Given the description of an element on the screen output the (x, y) to click on. 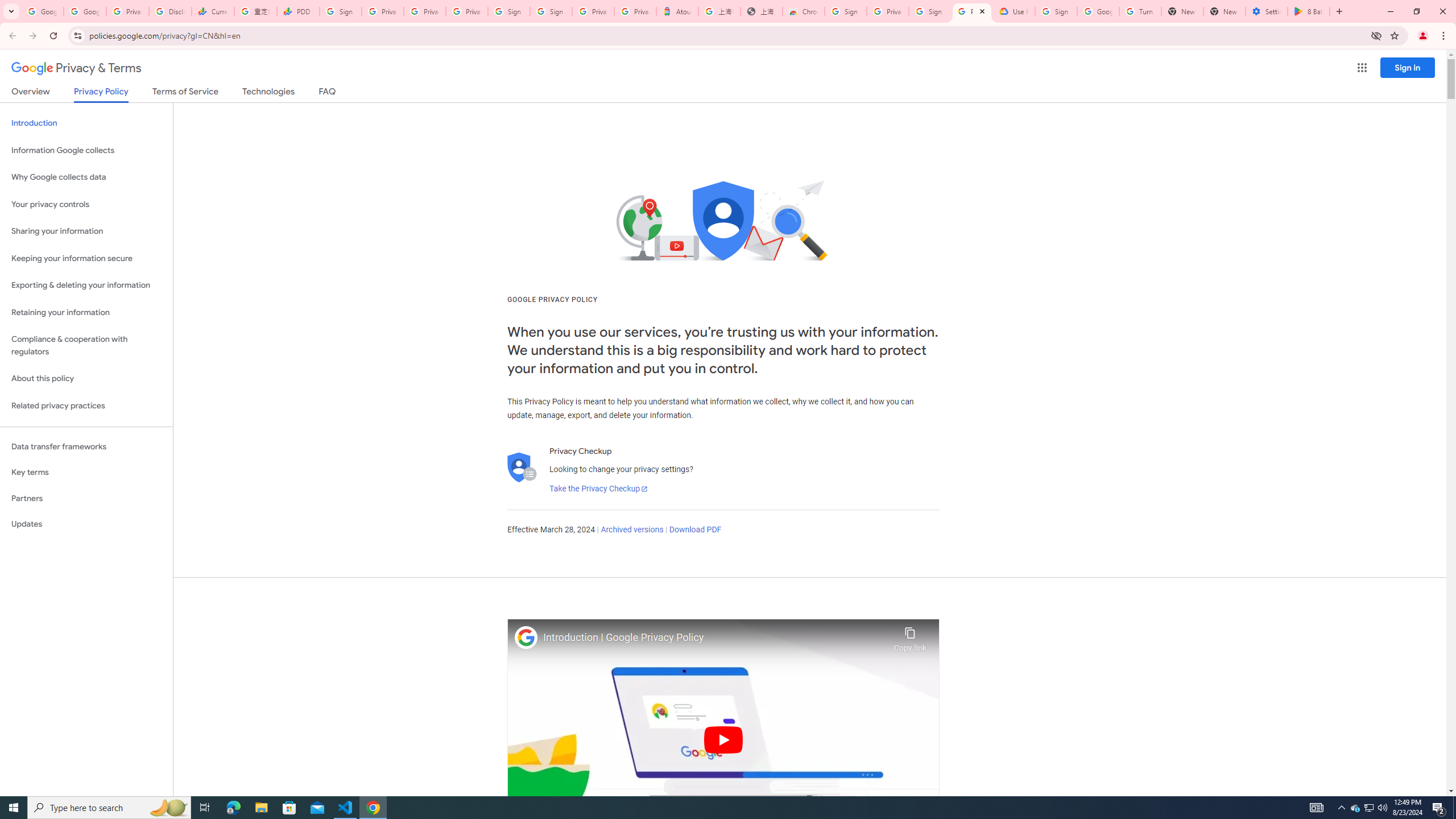
Sharing your information (86, 230)
Archived versions (631, 529)
Introduction | Google Privacy Policy (715, 637)
Copy link (909, 636)
Introduction (86, 122)
Privacy Checkup (467, 11)
Settings - System (1266, 11)
Play (723, 739)
